Given the description of an element on the screen output the (x, y) to click on. 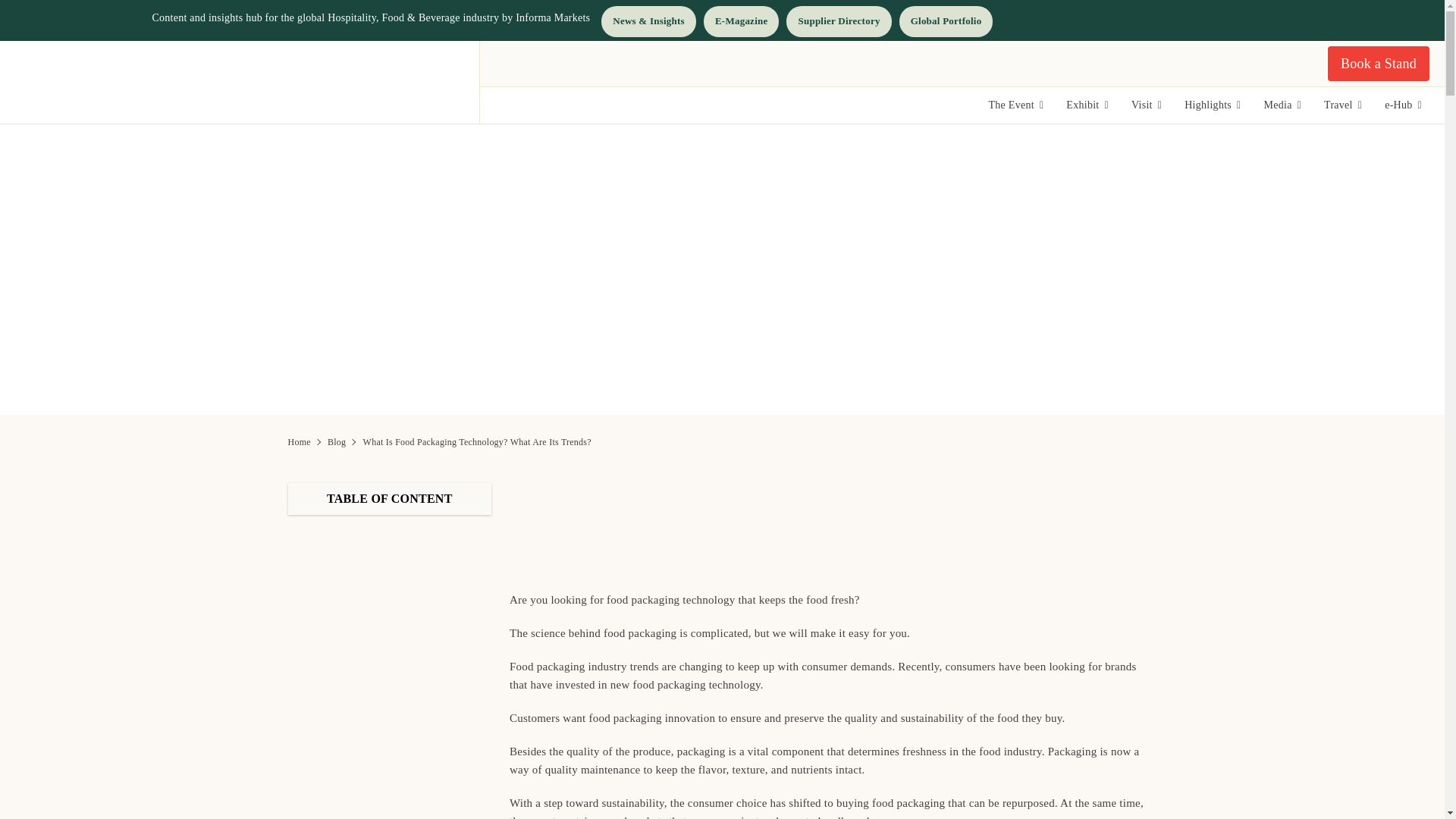
E-Magazine (740, 20)
Book a Stand (1378, 63)
Visit (1146, 105)
The Event (1015, 105)
Global Portfolio (945, 20)
Exhibit (1086, 105)
Highlights (1212, 105)
Supplier Directory (838, 20)
